Given the description of an element on the screen output the (x, y) to click on. 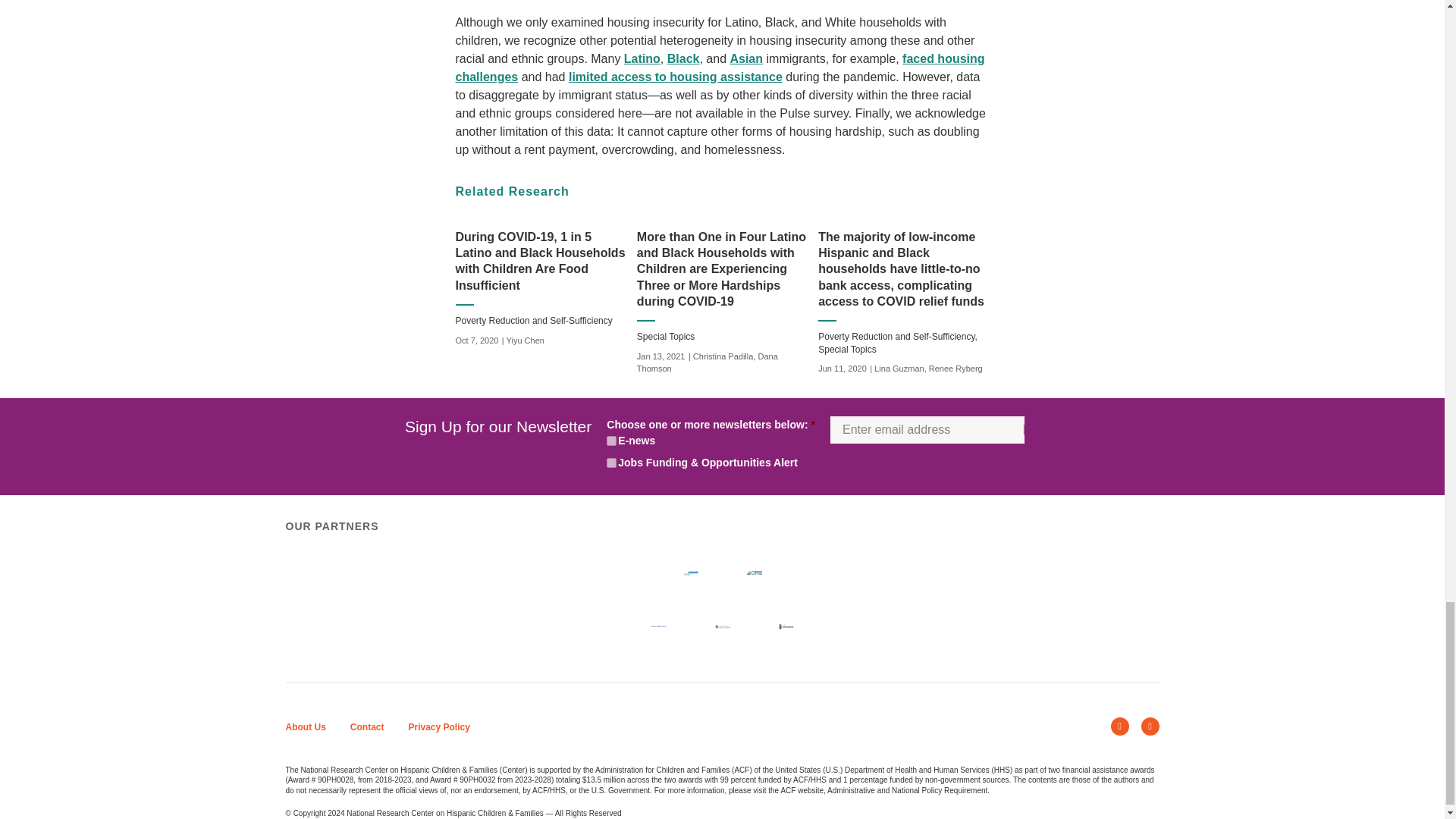
Submit (1025, 429)
E-news (611, 440)
